Given the description of an element on the screen output the (x, y) to click on. 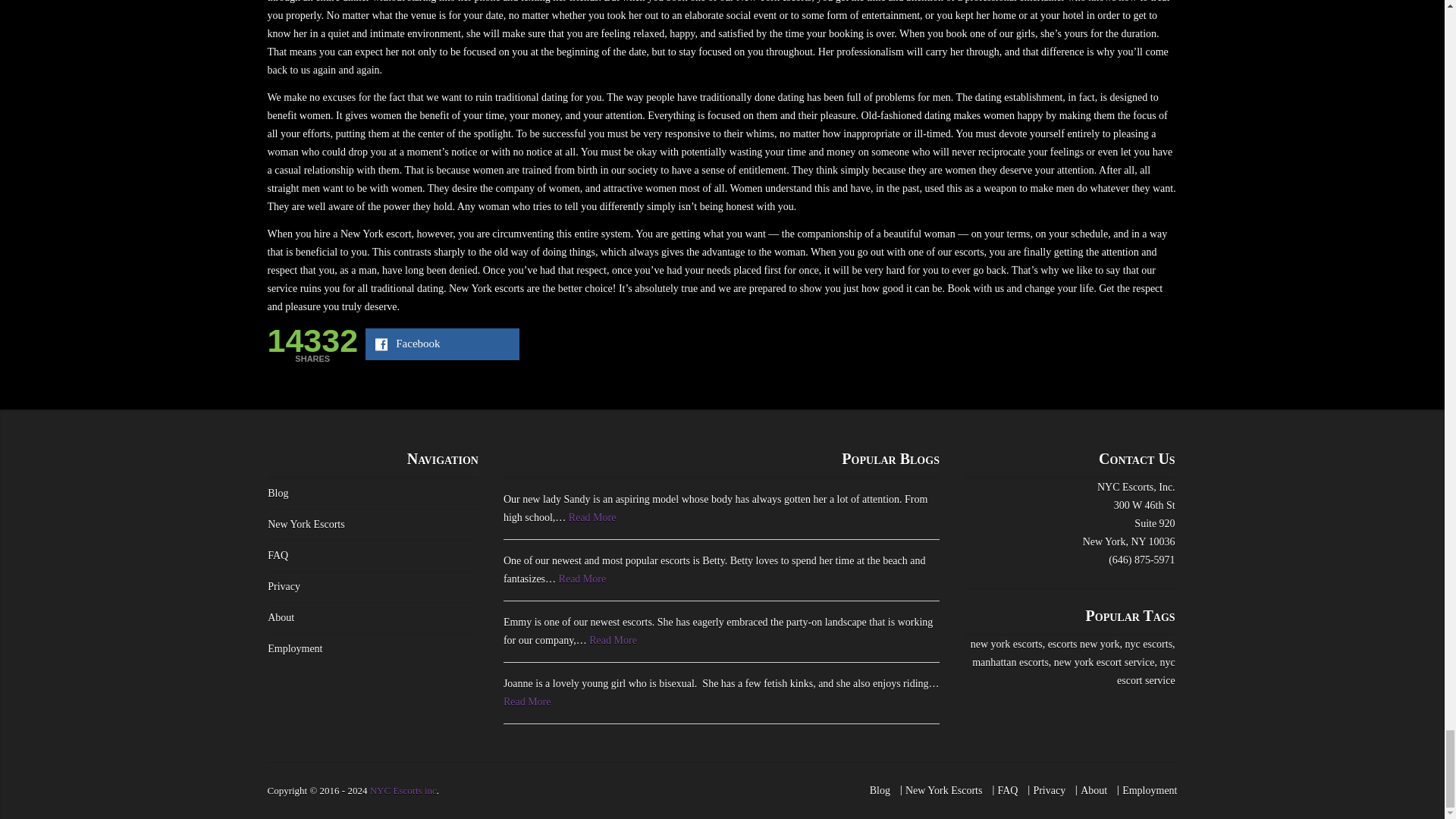
New York Escorts (306, 523)
Employment (1149, 789)
FAQ (277, 555)
Read More (583, 578)
Read More (592, 517)
Facebook (442, 344)
NYC Escorts inc (402, 790)
Read More (527, 701)
Blog (277, 492)
New York Escorts (943, 789)
